Given the description of an element on the screen output the (x, y) to click on. 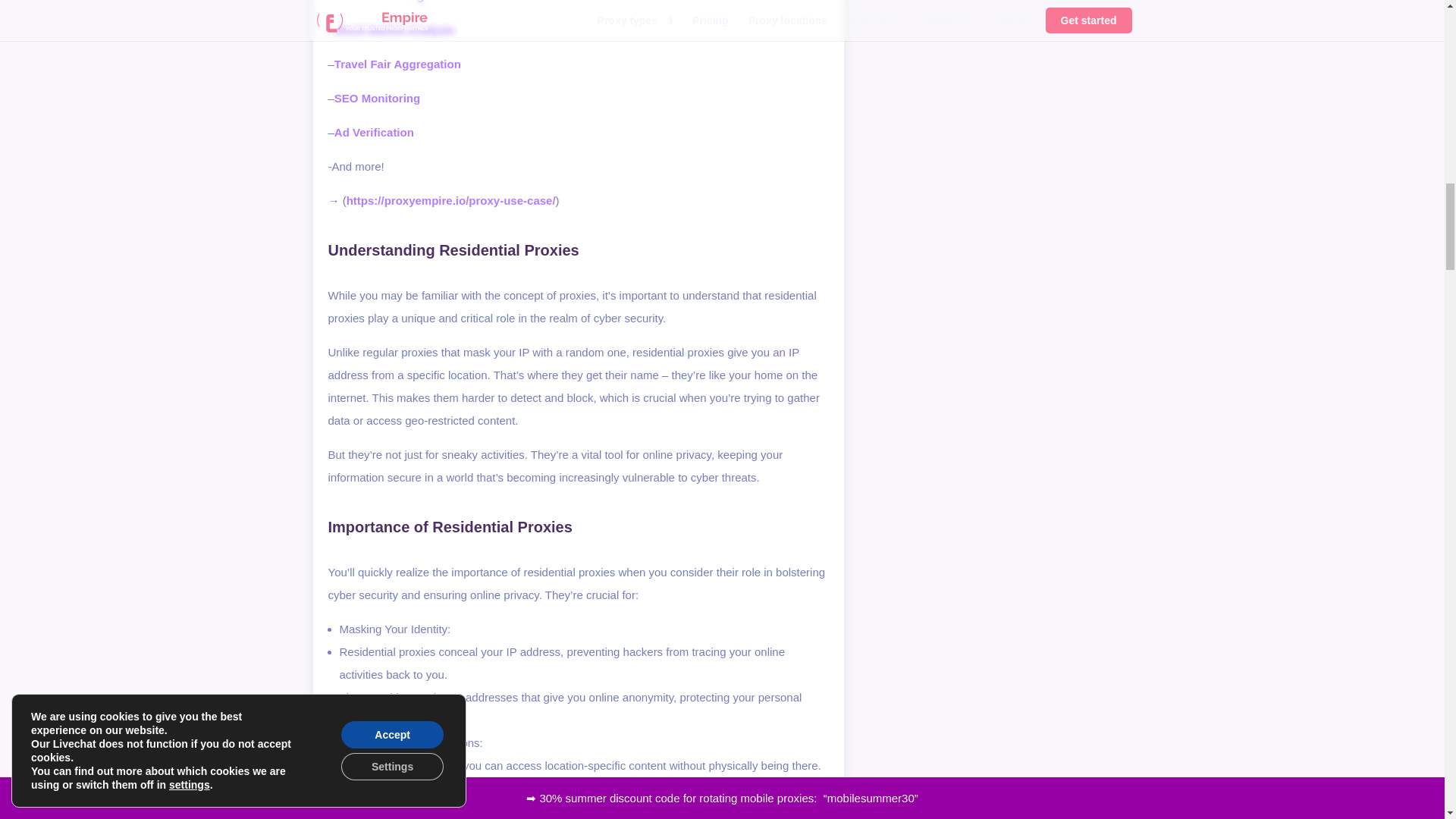
Travel Fair Aggregation (397, 63)
Price Monitoring (378, 1)
Stock Market Analysis (394, 29)
